Given the description of an element on the screen output the (x, y) to click on. 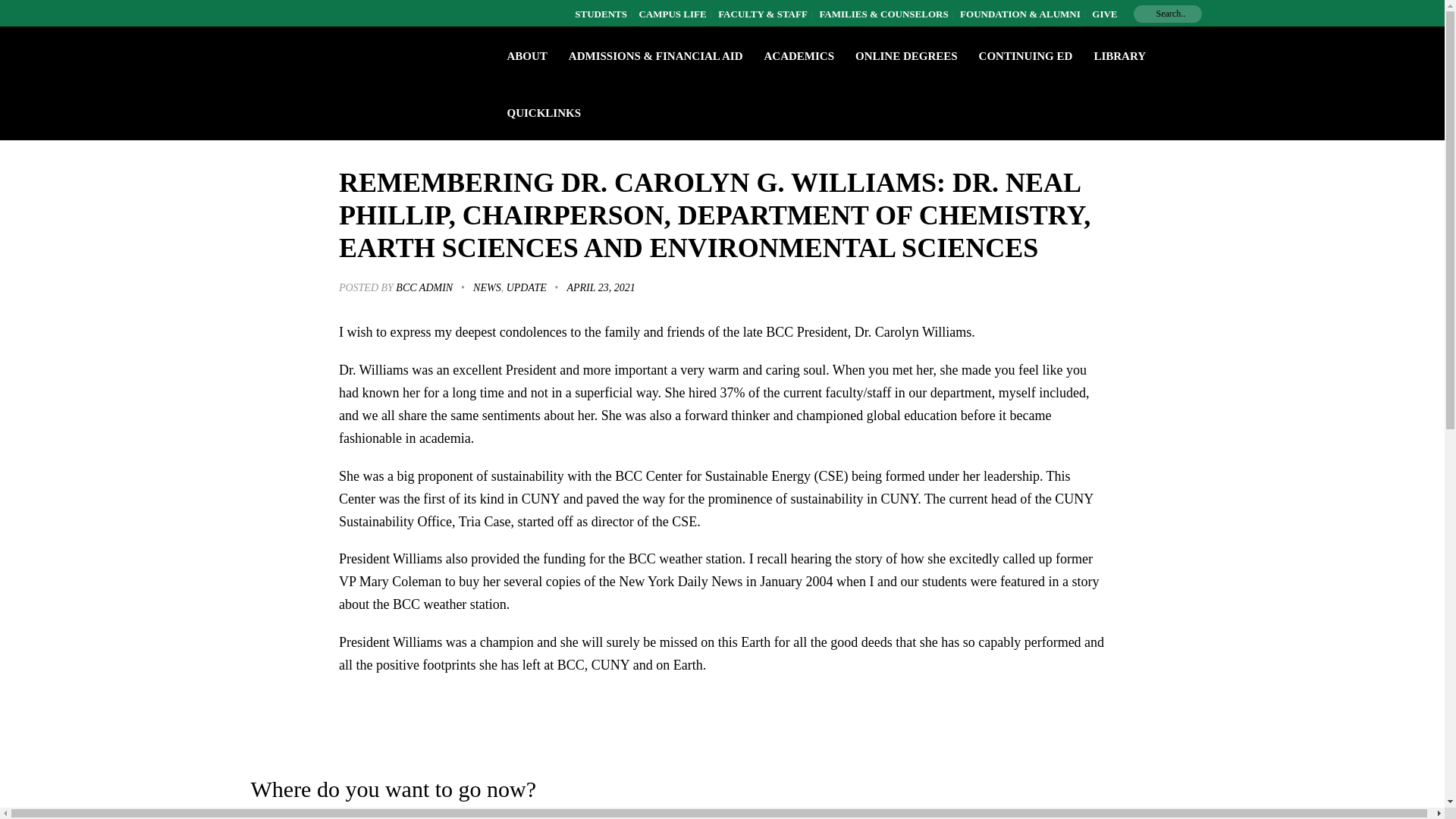
LIBRARY (1119, 55)
CUNY Bronx Community College (356, 54)
Posts by BCC Admin (424, 287)
HOME (249, 111)
NEWS (486, 287)
ACADEMICS (798, 55)
LIBRARY (1119, 55)
QUICKLINKS (543, 113)
UPDATE (526, 287)
STUDENTS (600, 14)
